Given the description of an element on the screen output the (x, y) to click on. 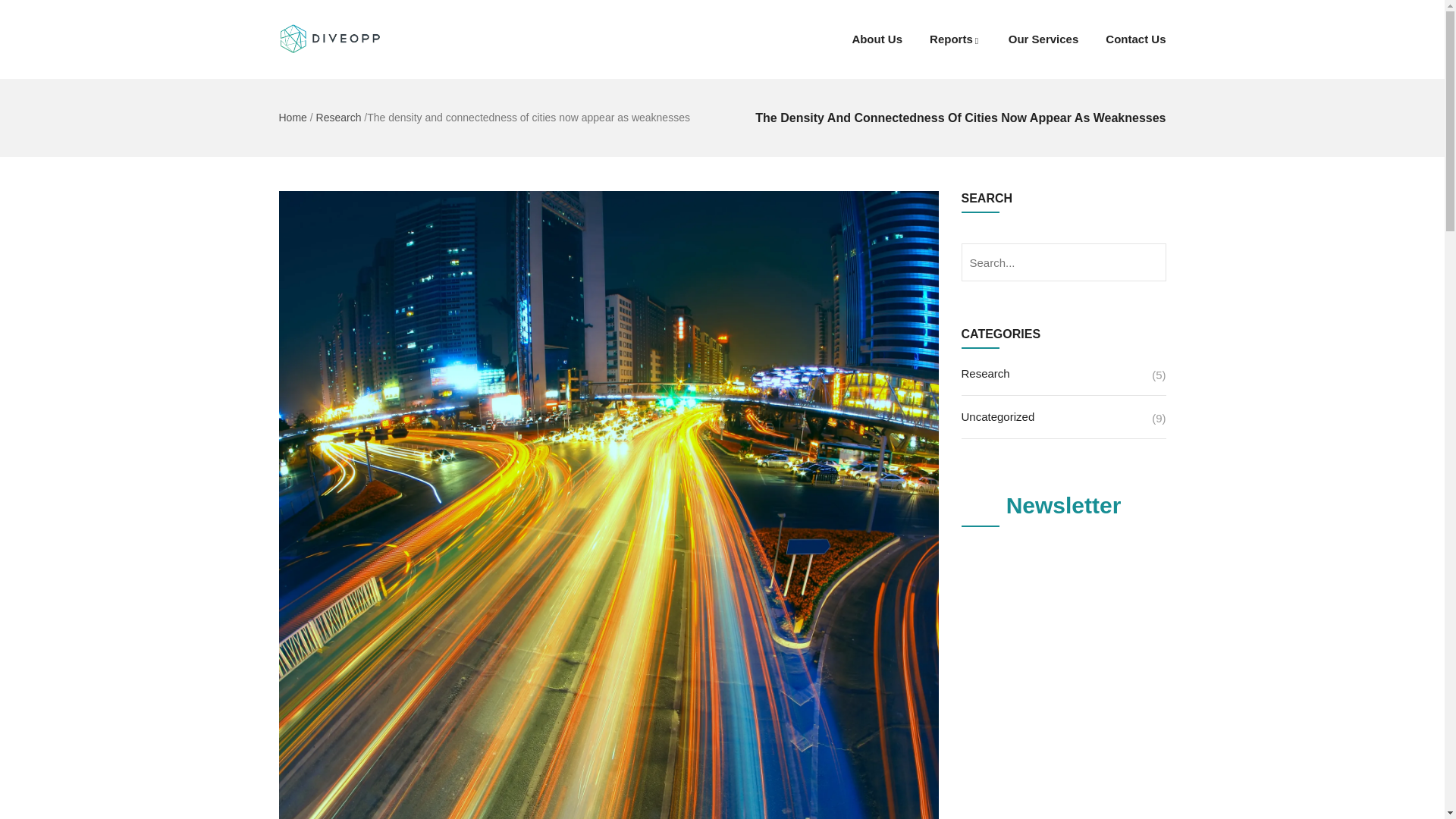
Our Services (1043, 39)
Home (293, 117)
About Us (876, 39)
Contact Us (1129, 39)
Research (338, 117)
Reports (954, 39)
